Given the description of an element on the screen output the (x, y) to click on. 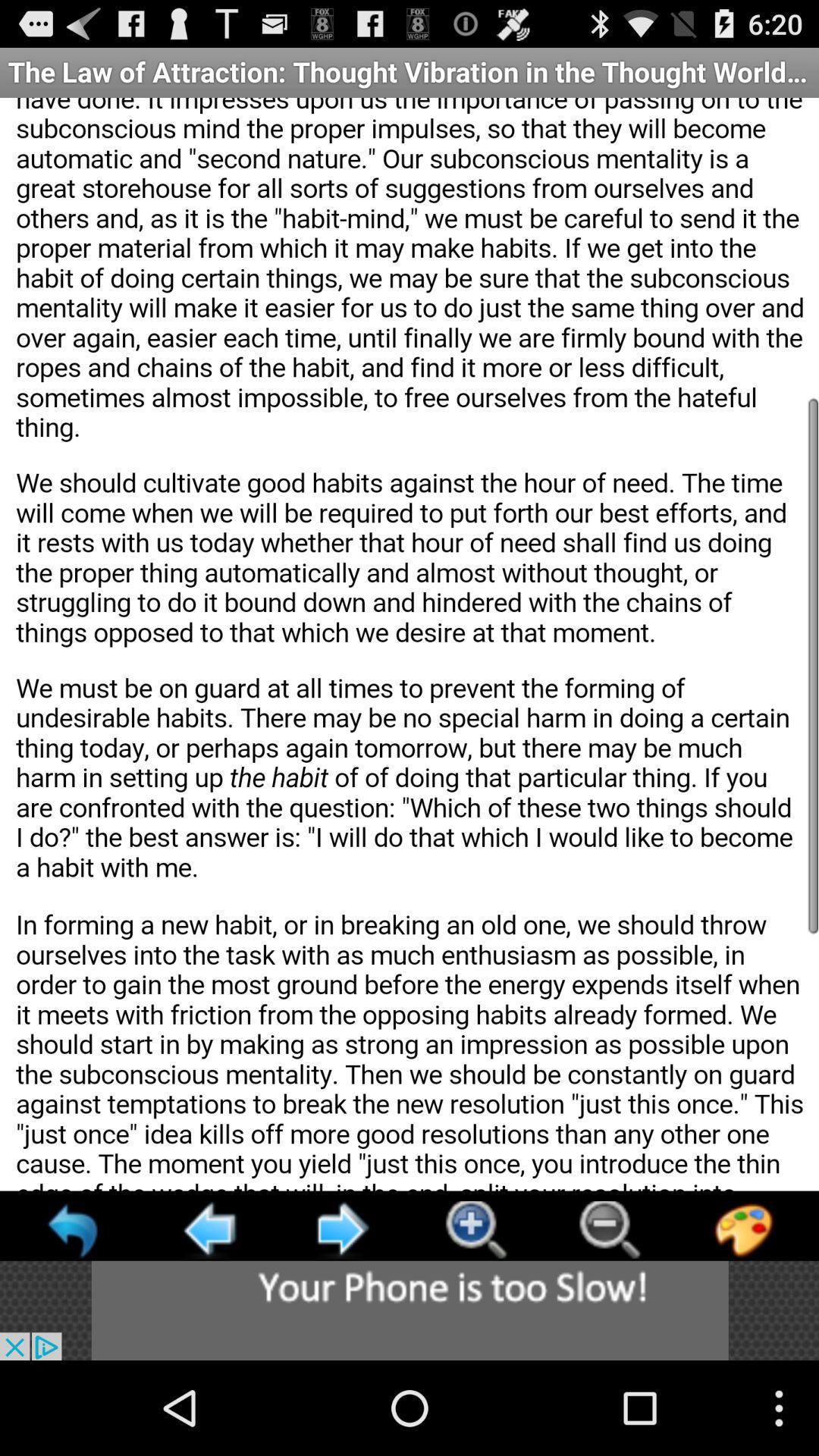
go back (208, 1229)
